Given the description of an element on the screen output the (x, y) to click on. 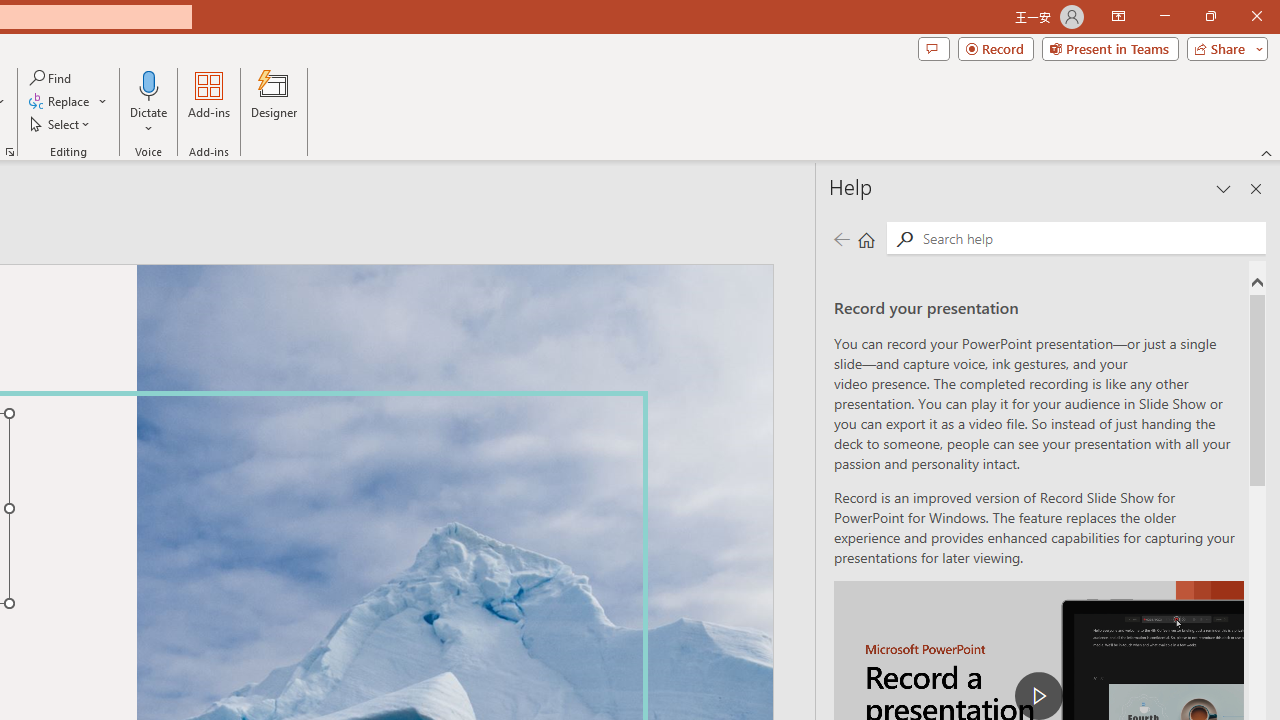
play Record a Presentation (1038, 695)
